Given the description of an element on the screen output the (x, y) to click on. 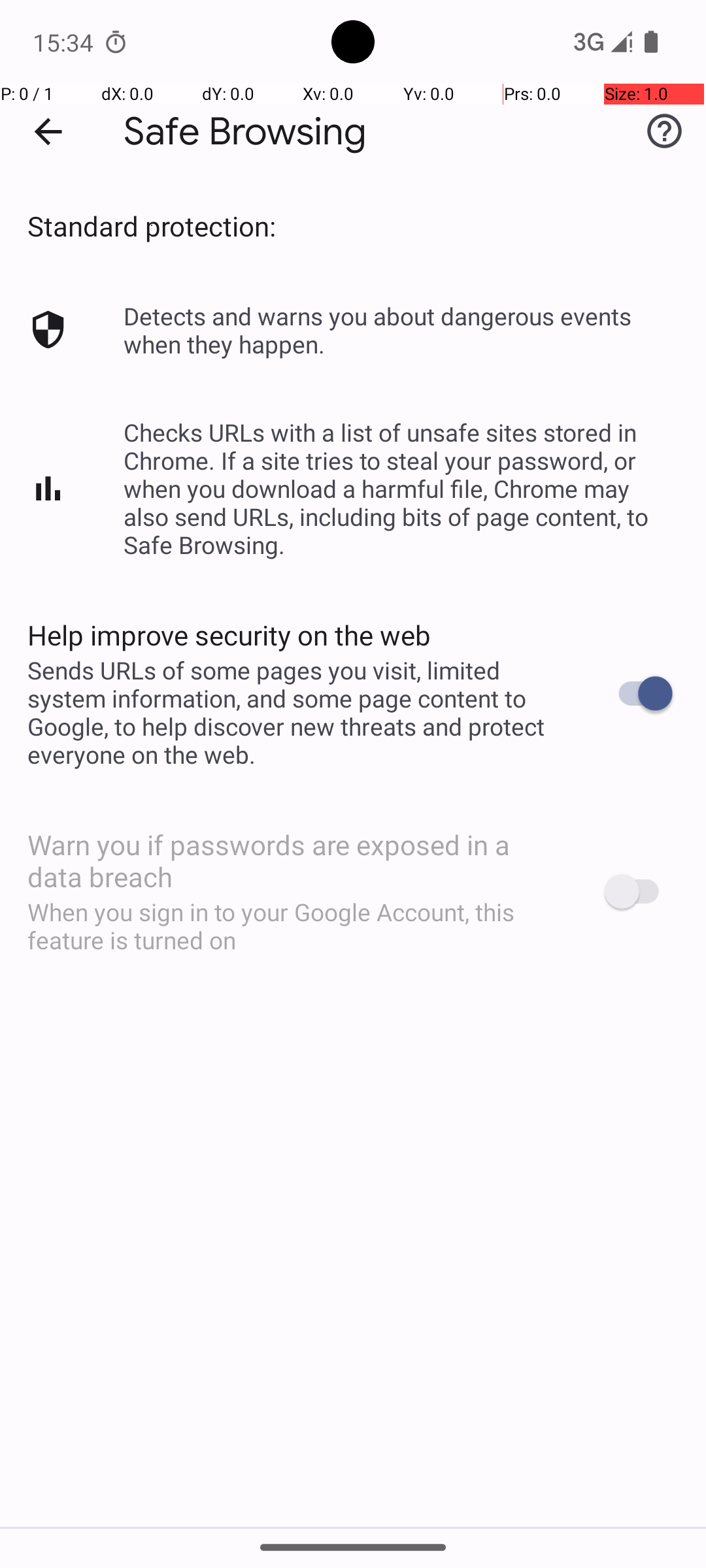
Standard protection: Element type: android.widget.TextView (151, 225)
Detects and warns you about dangerous events when they happen. Element type: android.widget.TextView (400, 329)
Checks URLs with a list of unsafe sites stored in Chrome. If a site tries to steal your password, or when you download a harmful file, Chrome may also send URLs, including bits of page content, to Safe Browsing. Element type: android.widget.TextView (400, 488)
Help improve security on the web Element type: android.widget.TextView (229, 634)
Sends URLs of some pages you visit, limited system information, and some page content to Google, to help discover new threats and protect everyone on the web. Element type: android.widget.TextView (297, 711)
Warn you if passwords are exposed in a data breach Element type: android.widget.TextView (297, 860)
When you sign in to your Google Account, this feature is turned on Element type: android.widget.TextView (297, 925)
